Given the description of an element on the screen output the (x, y) to click on. 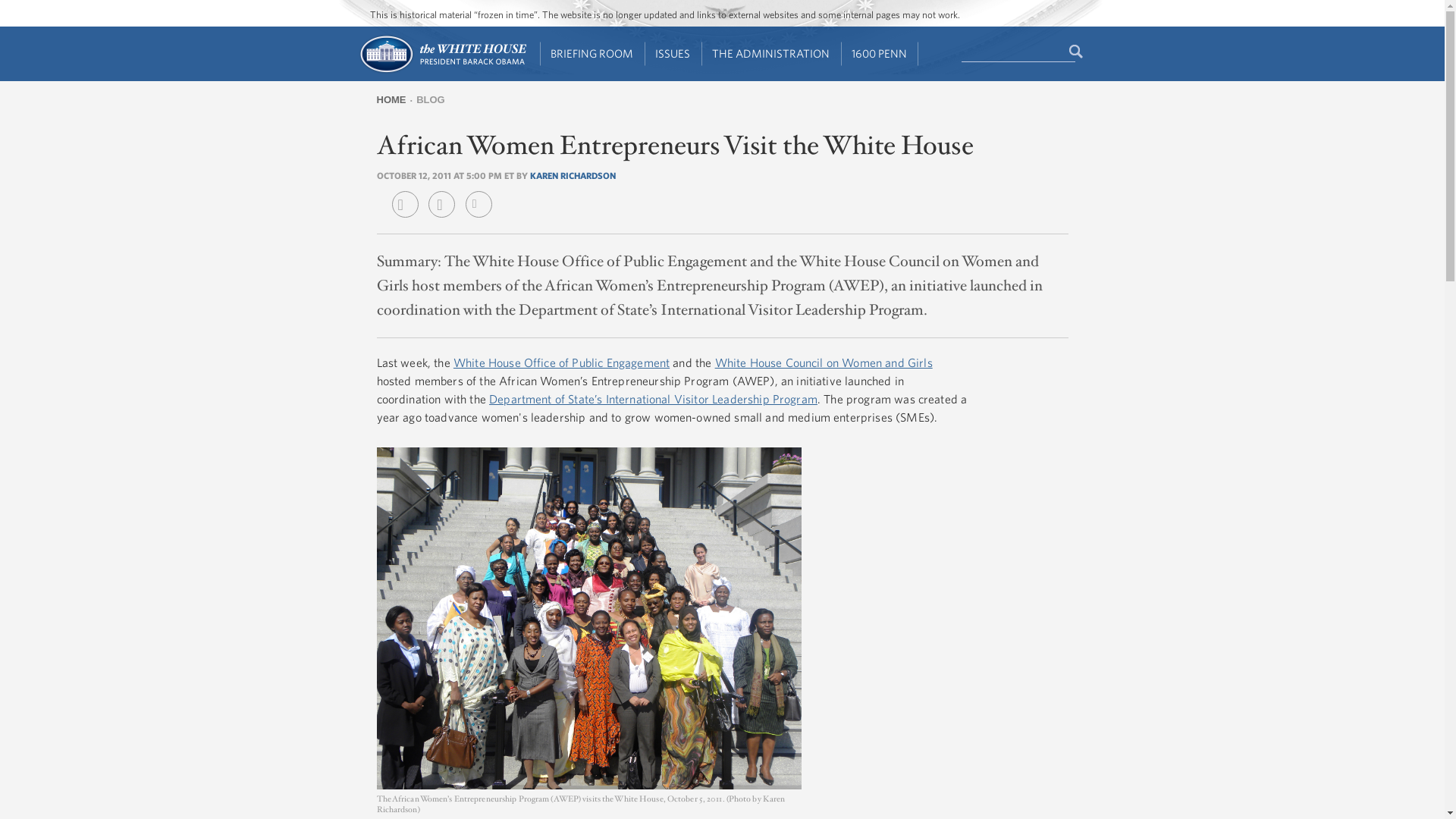
BRIEFING ROOM (592, 53)
ISSUES (673, 53)
Enter the terms you wish to search for. (1017, 52)
Search (1076, 51)
Home (441, 70)
